Given the description of an element on the screen output the (x, y) to click on. 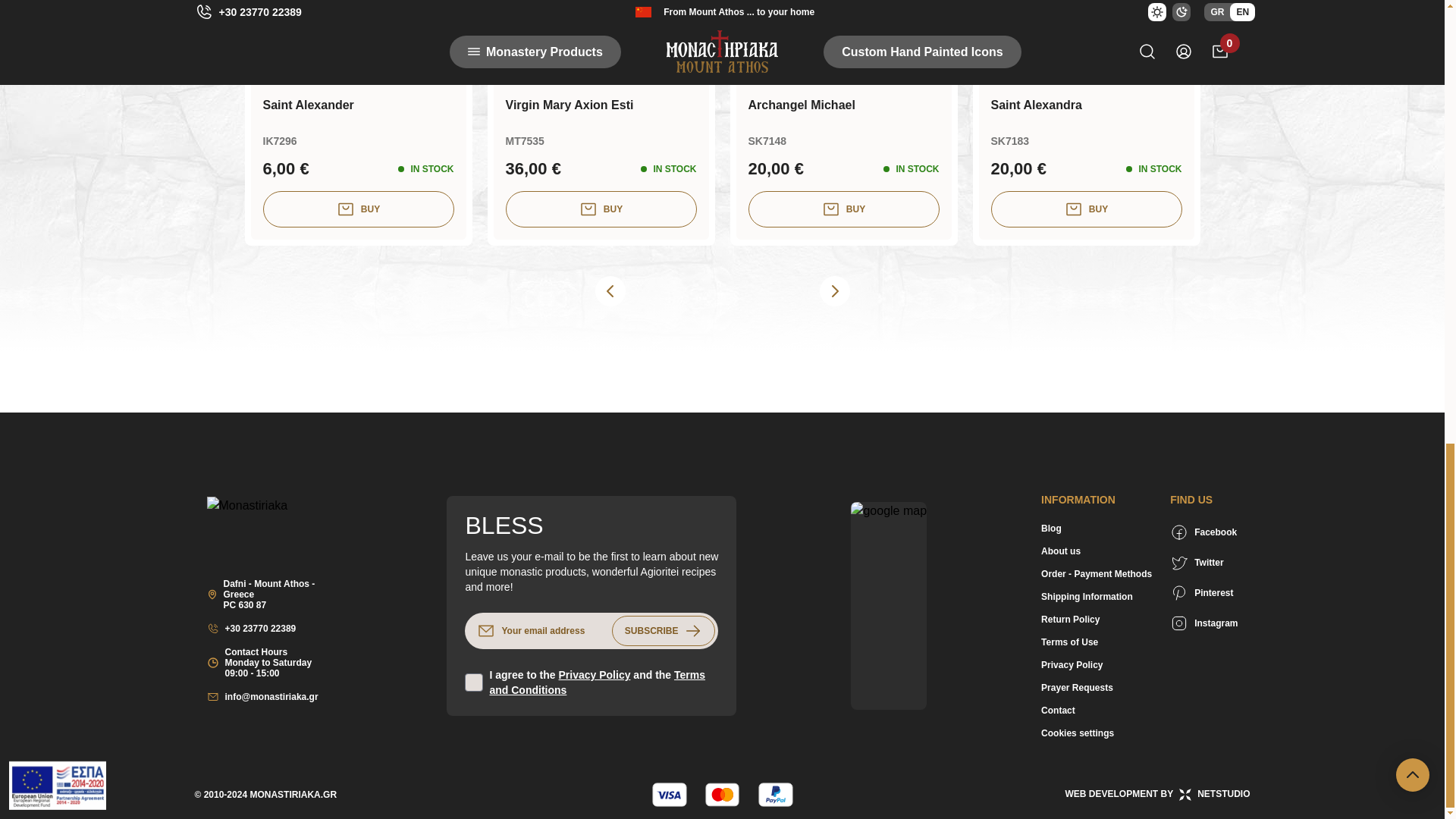
BUY (357, 208)
BUY (843, 208)
Virgin Mary Axion Esti (600, 105)
on (473, 682)
Saint Alexander (357, 105)
BUY (600, 208)
Archangel Michael (843, 105)
